Given the description of an element on the screen output the (x, y) to click on. 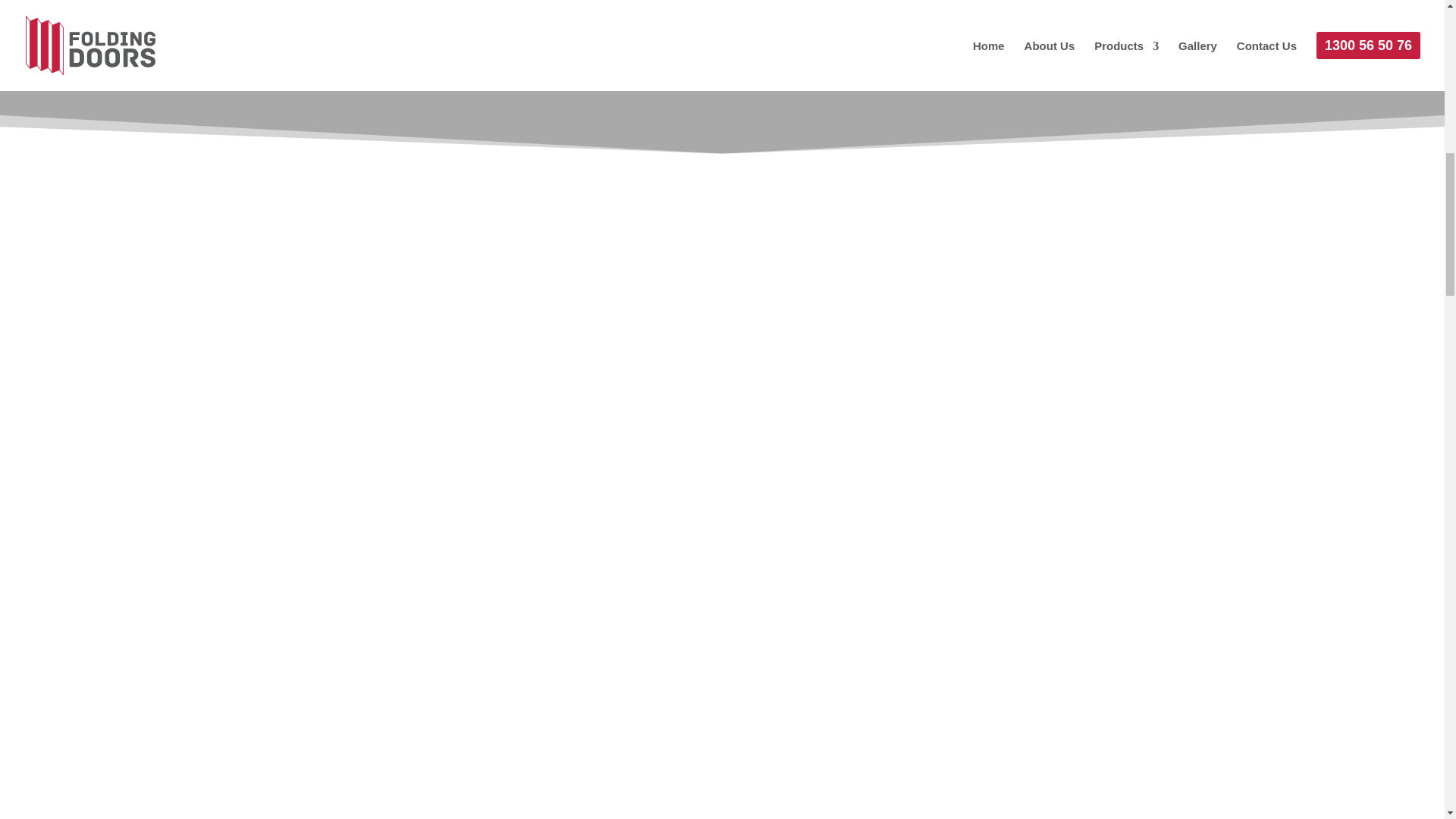
Australian Made Logo (434, 52)
